Given the description of an element on the screen output the (x, y) to click on. 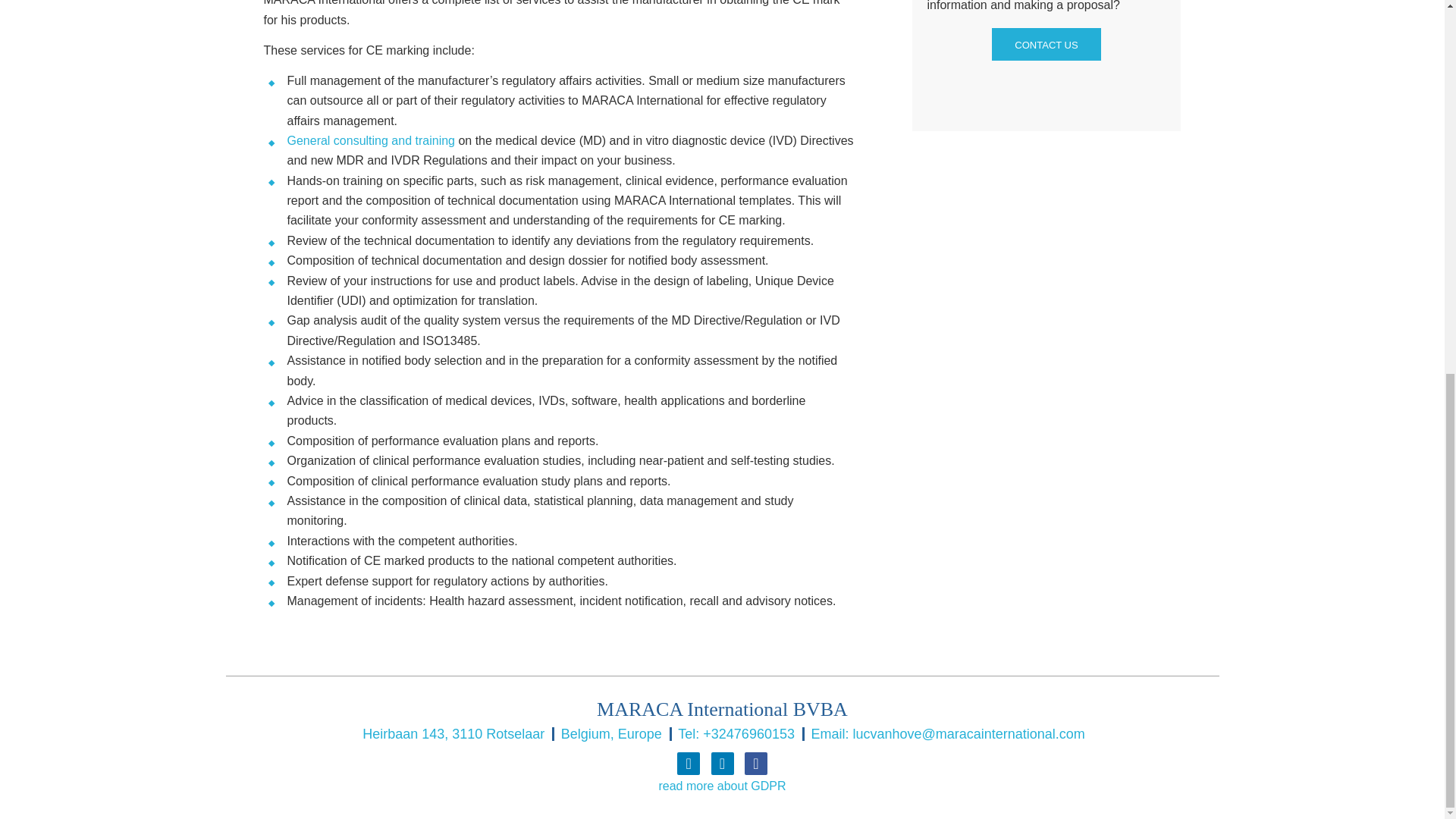
CONTACT US (1045, 44)
Facebook (755, 763)
Linkedin (722, 763)
General consulting and training (370, 140)
Linkedin (688, 763)
read more about GDPR (722, 785)
